Given the description of an element on the screen output the (x, y) to click on. 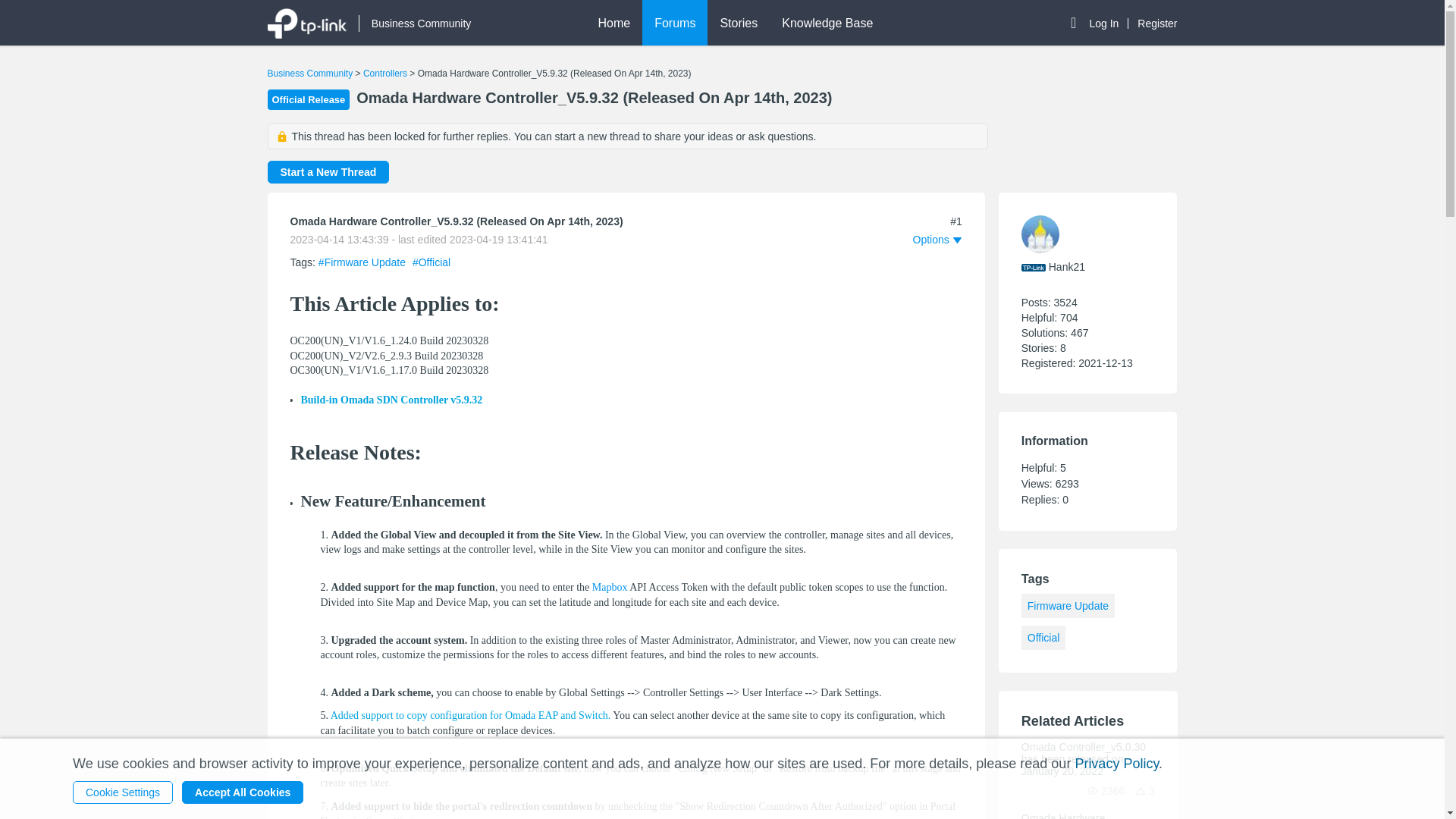
Start a New Thread (327, 172)
Home (613, 23)
Log In (1108, 23)
Business Community (414, 23)
Controllers (384, 72)
Knowledge Base (826, 23)
Start a New Thread (327, 171)
Mapbox (609, 586)
Stories (738, 23)
Business Community (309, 72)
